Given the description of an element on the screen output the (x, y) to click on. 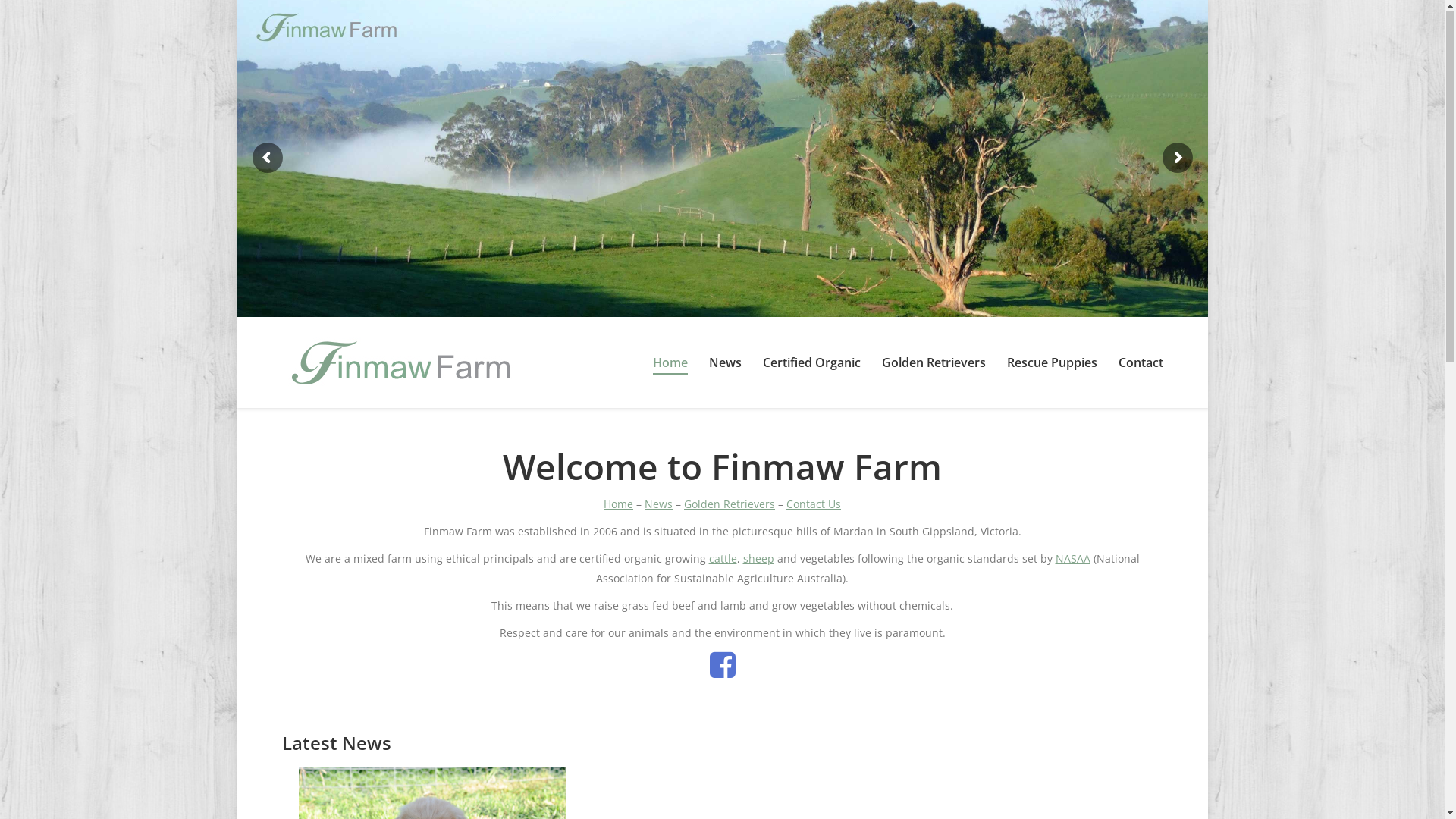
Contact Element type: text (1139, 363)
cattle Element type: text (722, 559)
News Element type: text (724, 363)
NASAA Element type: text (1072, 559)
Golden Retrievers Element type: text (729, 505)
Golden Retrievers Element type: text (933, 363)
Contact Us Element type: text (813, 505)
Home Element type: text (669, 363)
Certified Organic Element type: text (811, 363)
Rescue Puppies Element type: text (1052, 363)
News Element type: text (658, 505)
sheep Element type: text (758, 559)
Home Element type: text (618, 505)
